Given the description of an element on the screen output the (x, y) to click on. 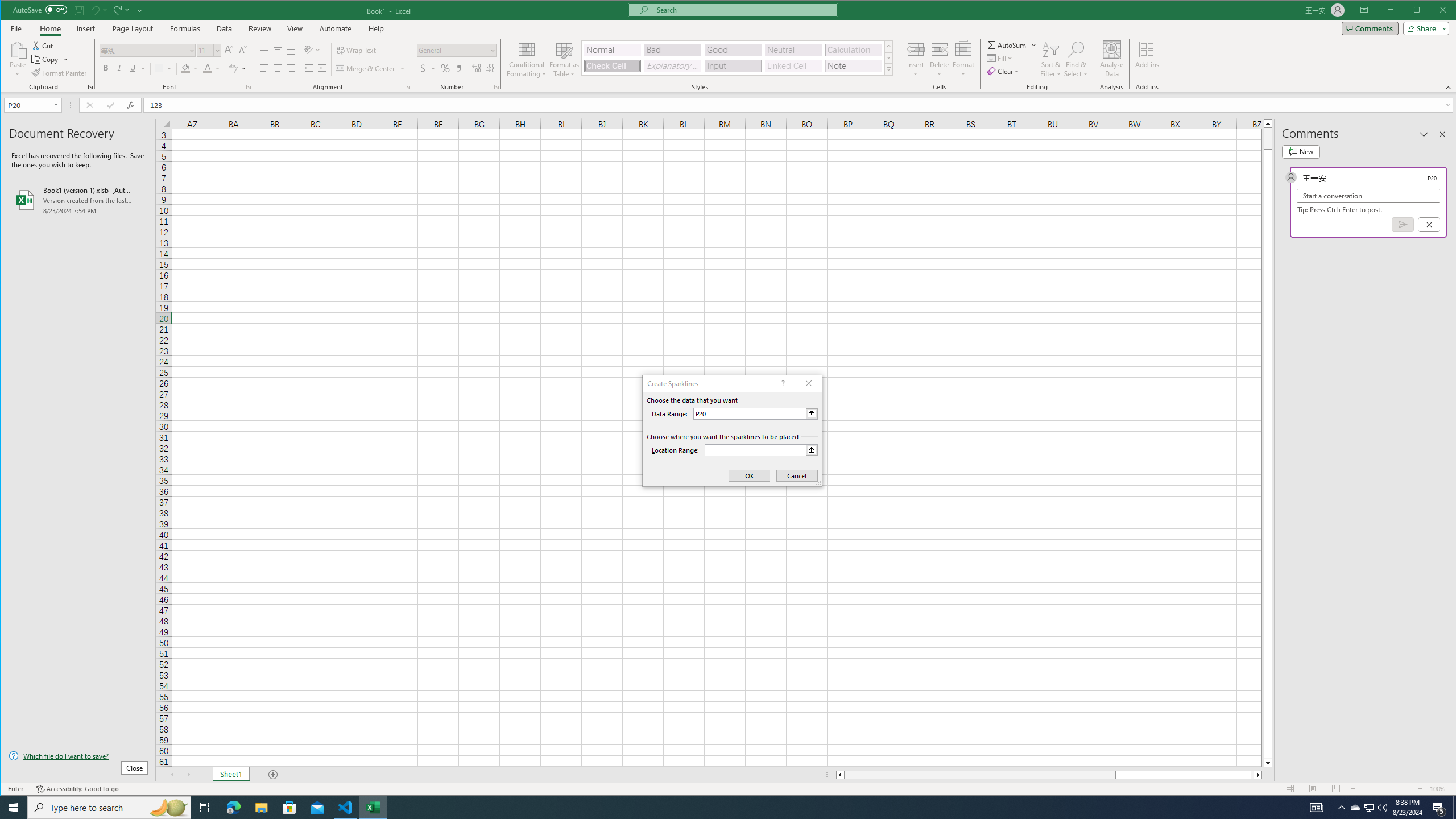
Format (963, 59)
Class: MsoCommandBar (728, 45)
Class: NetUIImage (888, 69)
Format Painter (59, 72)
Analyze Data (1112, 59)
Format Cell Font (248, 86)
AutomationID: CellStylesGallery (736, 57)
Bad (672, 49)
